Given the description of an element on the screen output the (x, y) to click on. 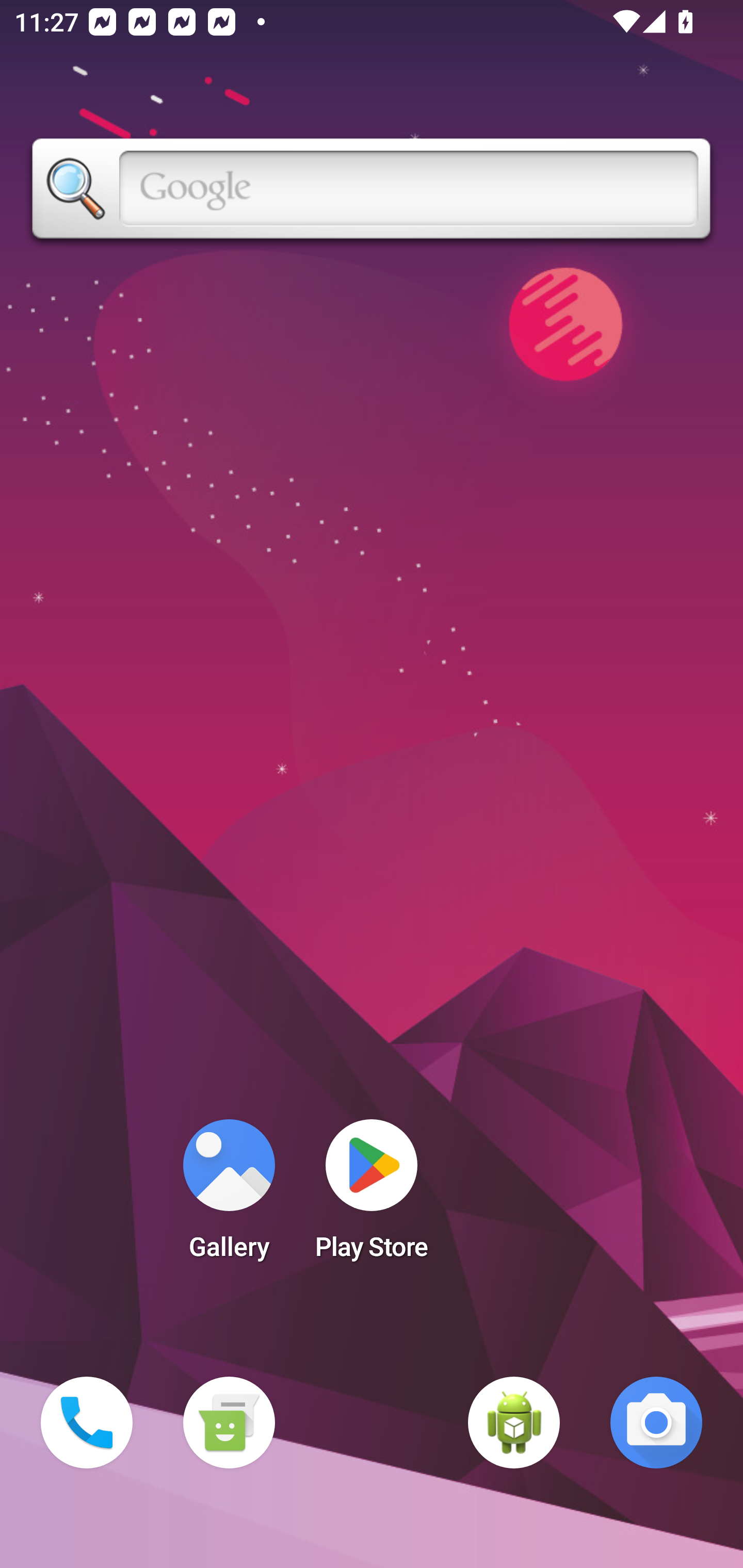
Gallery (228, 1195)
Play Store (371, 1195)
Phone (86, 1422)
Messaging (228, 1422)
WebView Browser Tester (513, 1422)
Camera (656, 1422)
